Given the description of an element on the screen output the (x, y) to click on. 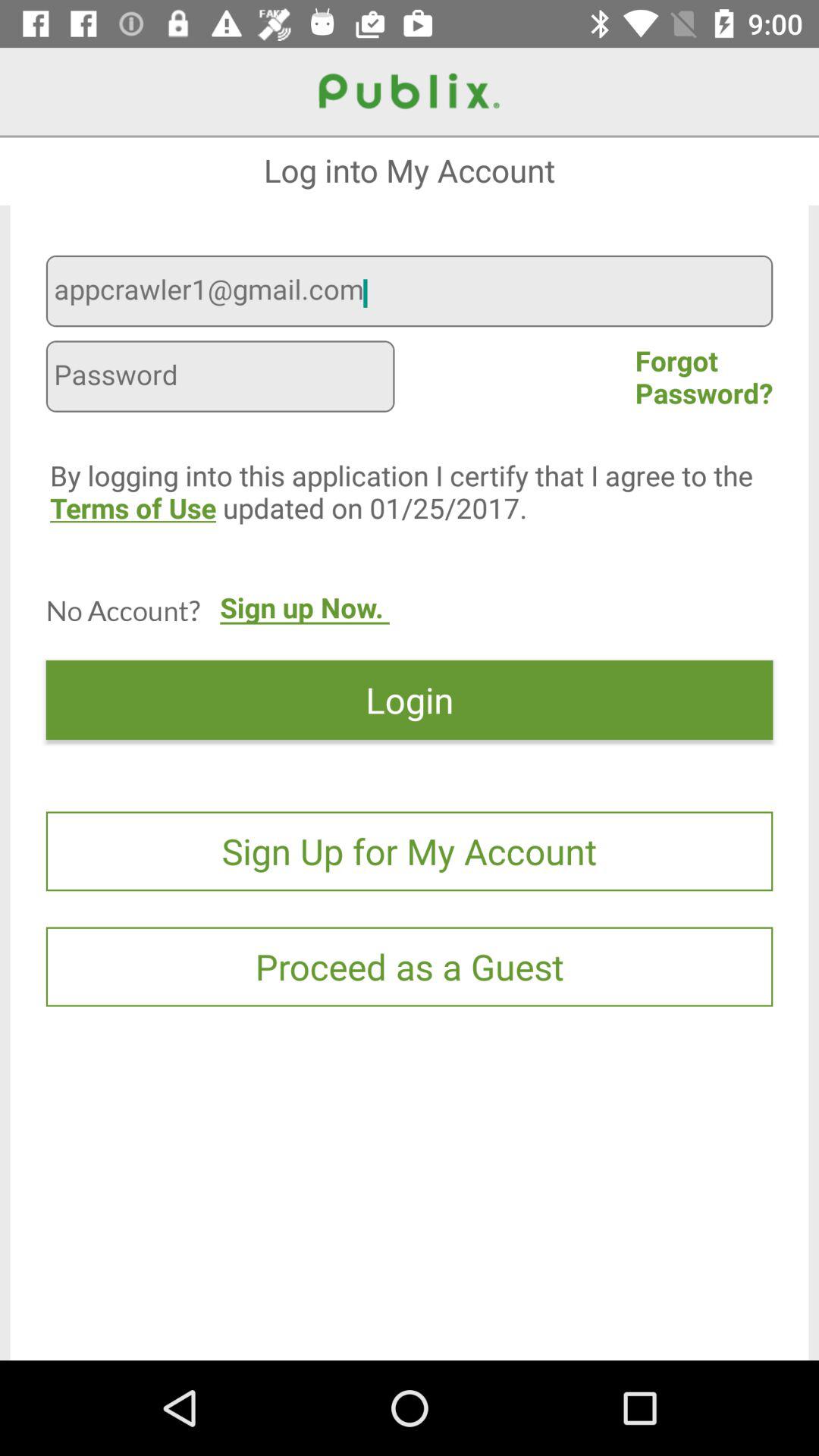
open icon next to the sign up now. icon (123, 609)
